Given the description of an element on the screen output the (x, y) to click on. 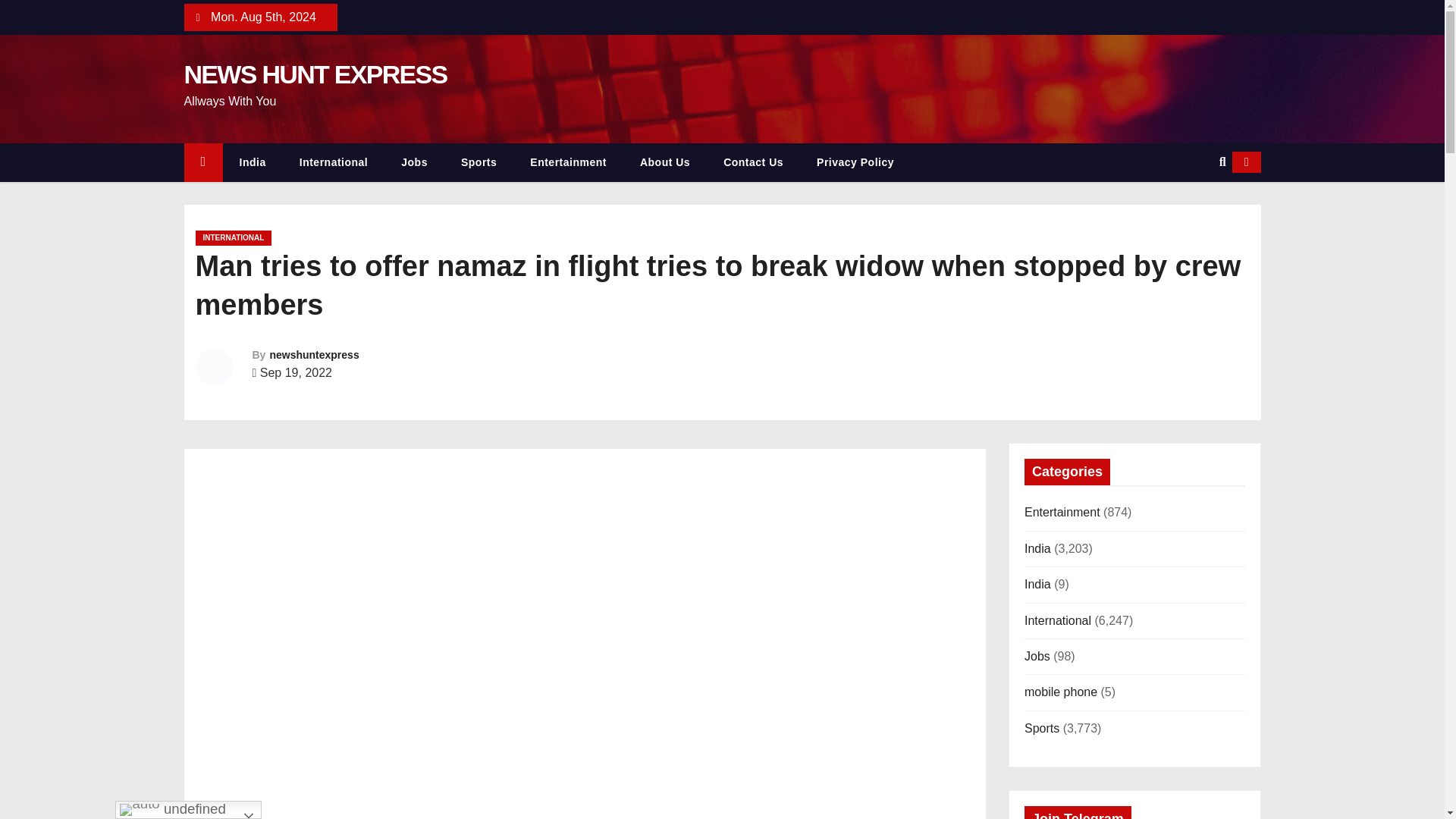
Entertainment (568, 162)
Contact Us (752, 162)
Jobs (414, 162)
India (252, 162)
Privacy Policy (855, 162)
About Us (664, 162)
Sports (478, 162)
Sports (478, 162)
International (333, 162)
About Us (664, 162)
